Given the description of an element on the screen output the (x, y) to click on. 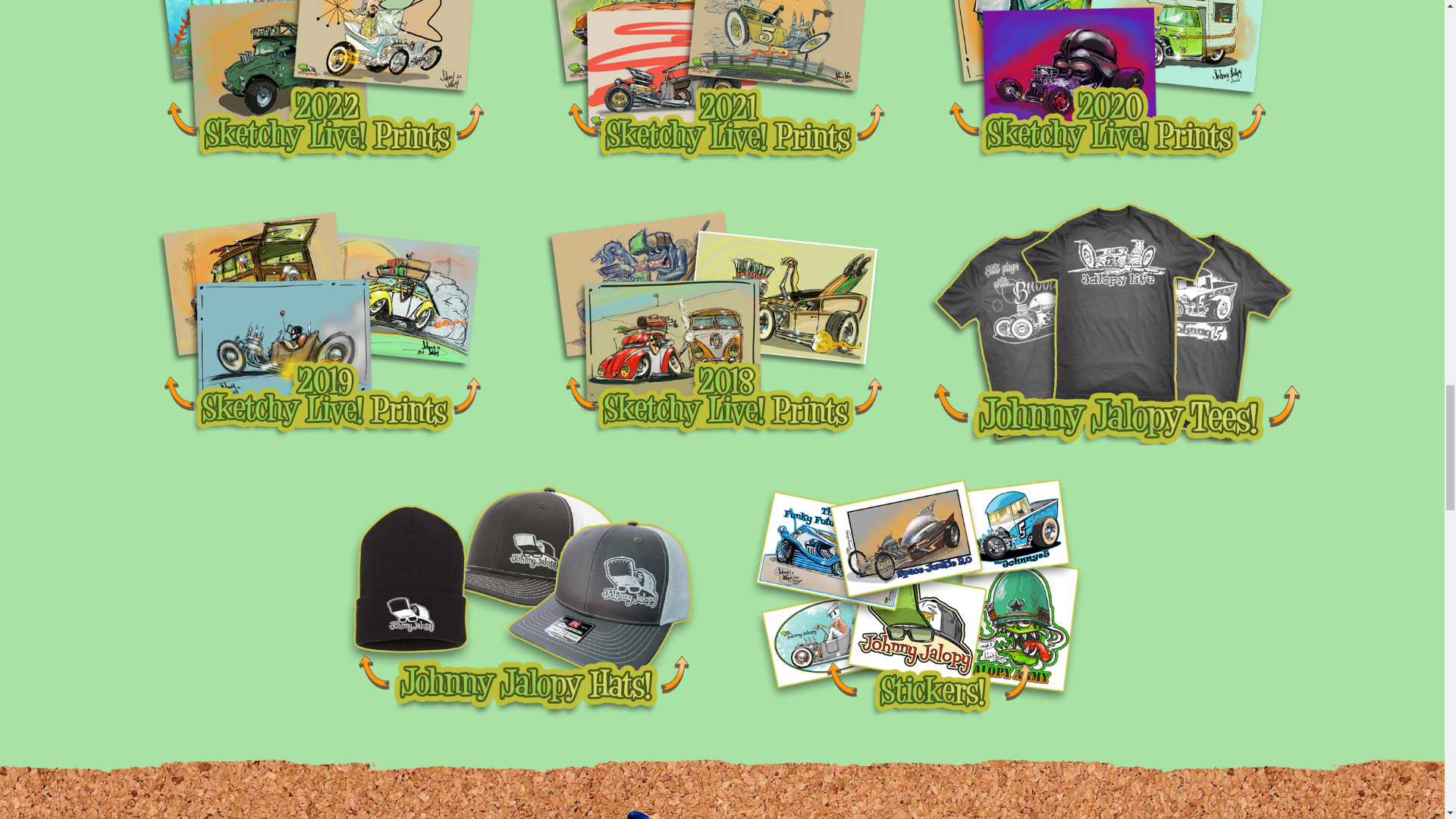
View 2020 Sketchy Live! Prints (1112, 85)
View Johnny Jalopy Stickers (915, 597)
View 2022 Sketchy Live! Prints (325, 85)
View 2018 Sketchy Live! Prints (719, 323)
View Johnny Jalopy Tees (1112, 323)
View 2021 Sketchy Live! Prints (719, 85)
View Johnny Jalopy Hats (523, 597)
View 2019 Sketchy Live! Prints (325, 323)
